Given the description of an element on the screen output the (x, y) to click on. 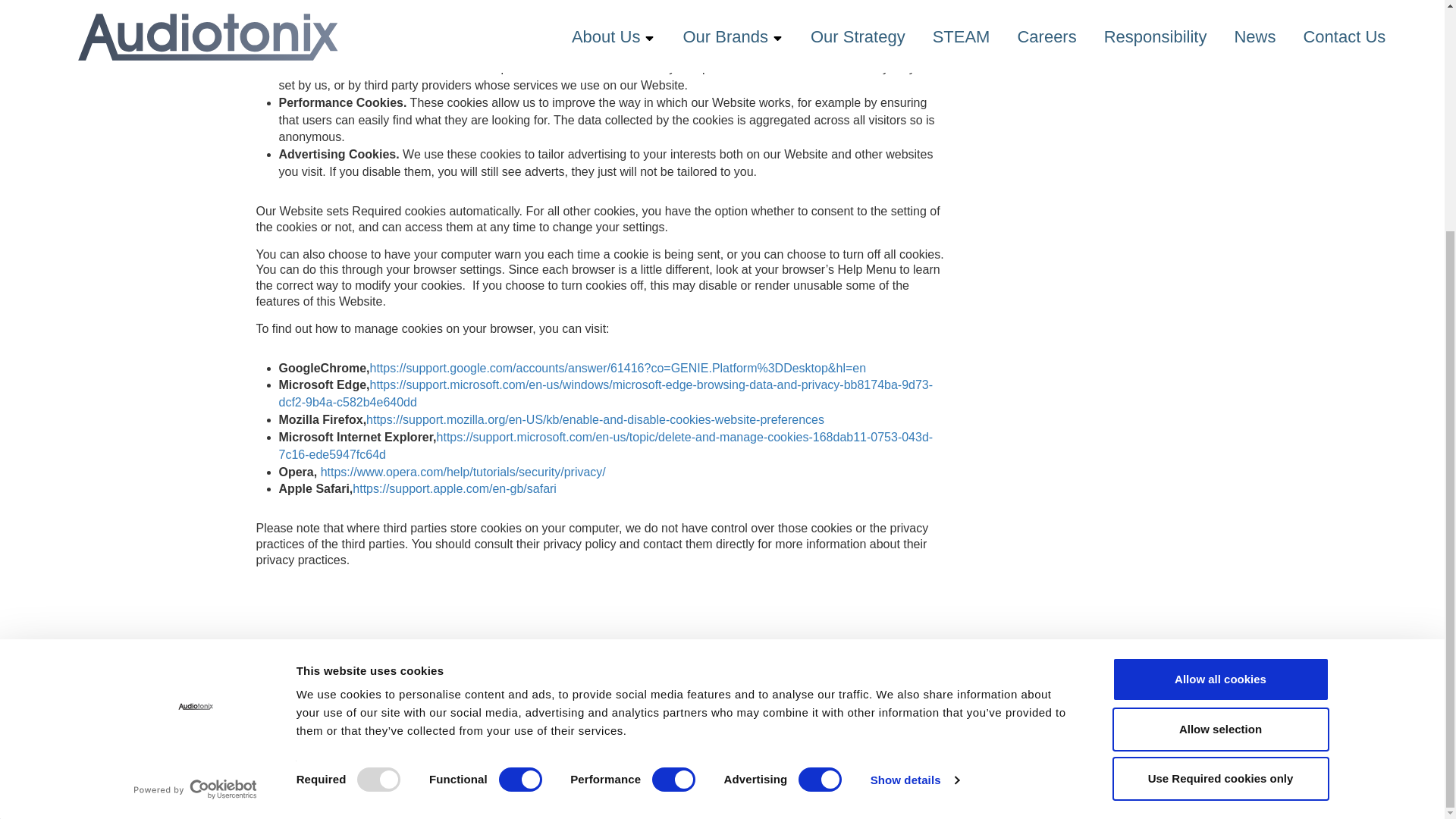
Show details (914, 467)
Allow selection (1219, 415)
Use Required cookies only (1219, 466)
Allow all cookies (1219, 366)
